Given the description of an element on the screen output the (x, y) to click on. 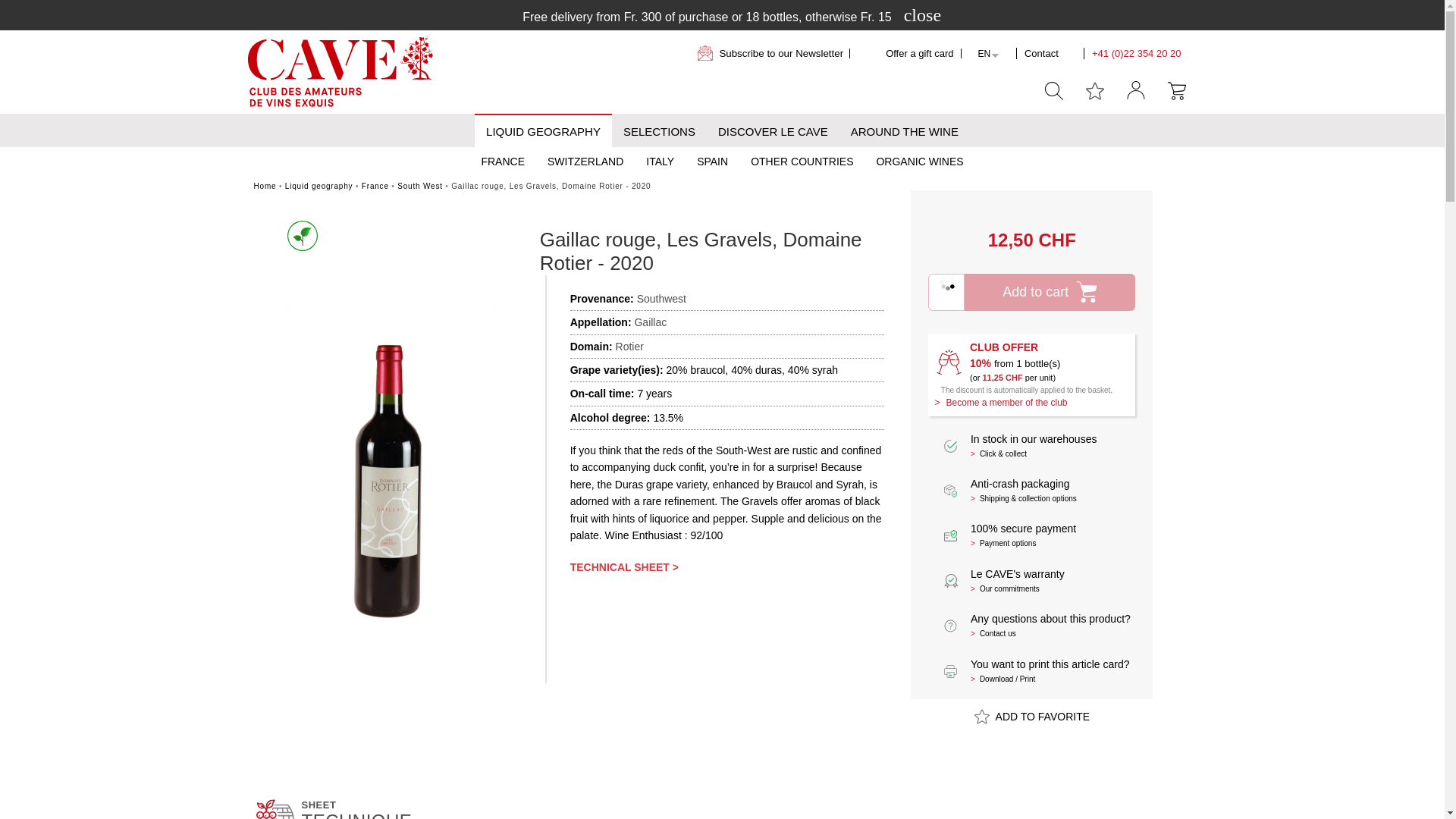
DISCOVER LE CAVE (772, 131)
AROUND THE WINE (904, 131)
Offer a gift card (914, 53)
EN (983, 53)
ITALY (659, 159)
Discover le CAVE (772, 131)
FRANCE (501, 159)
Offer a gift card (914, 53)
SWITZERLAND (584, 159)
Retrouvez tous les vins de Gaillac (649, 322)
SELECTIONS (659, 131)
OTHER COUNTRIES (801, 159)
LIQUID GEOGRAPHY (542, 131)
Subscribe to our Newsletter (773, 53)
SPAIN (712, 159)
